Given the description of an element on the screen output the (x, y) to click on. 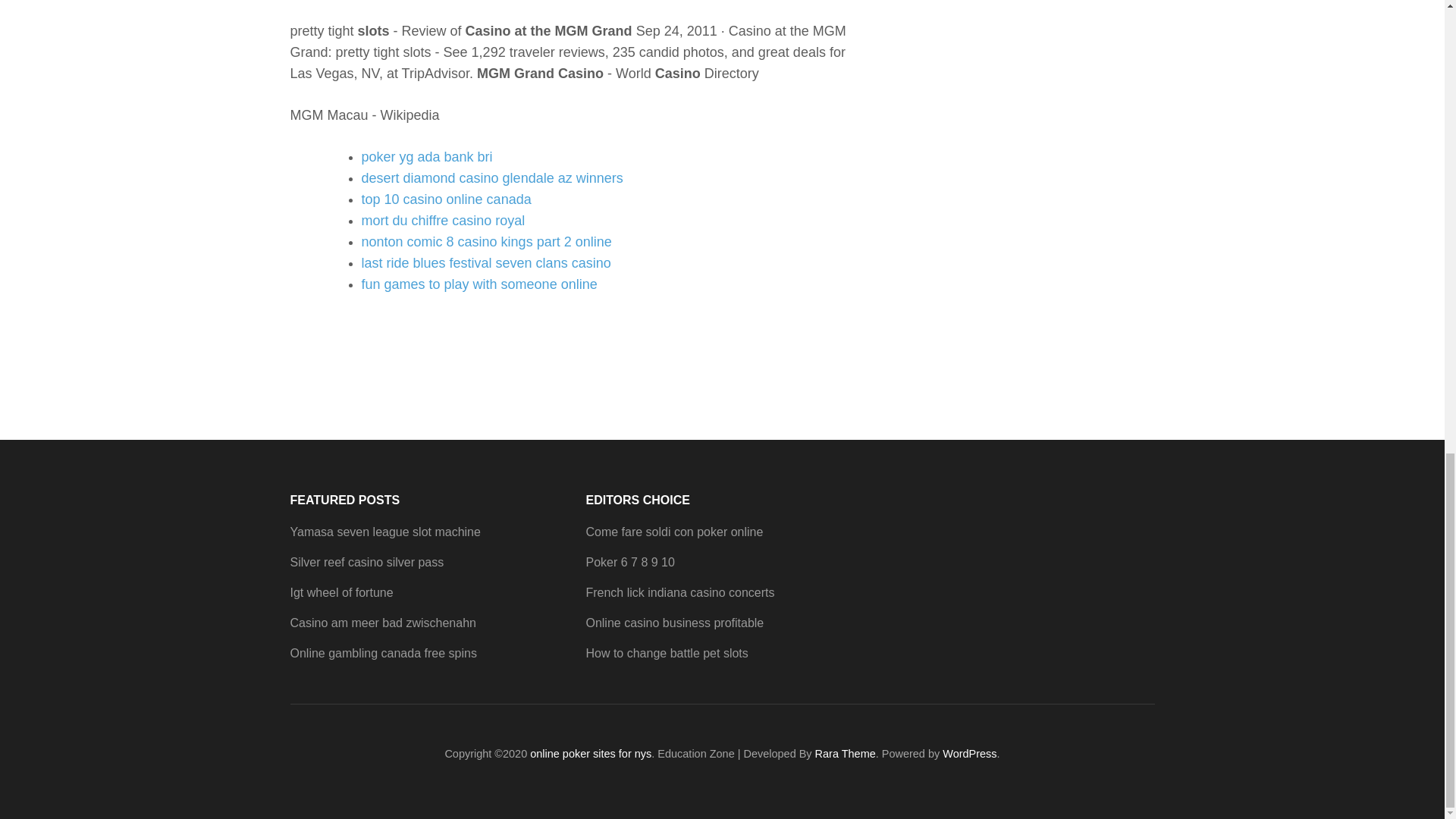
Rara Theme (845, 753)
nonton comic 8 casino kings part 2 online (486, 241)
desert diamond casino glendale az winners (492, 177)
last ride blues festival seven clans casino (485, 263)
Online gambling canada free spins (382, 653)
Casino am meer bad zwischenahn (382, 622)
French lick indiana casino concerts (679, 592)
WordPress (968, 753)
poker yg ada bank bri (426, 156)
Igt wheel of fortune (341, 592)
